Given the description of an element on the screen output the (x, y) to click on. 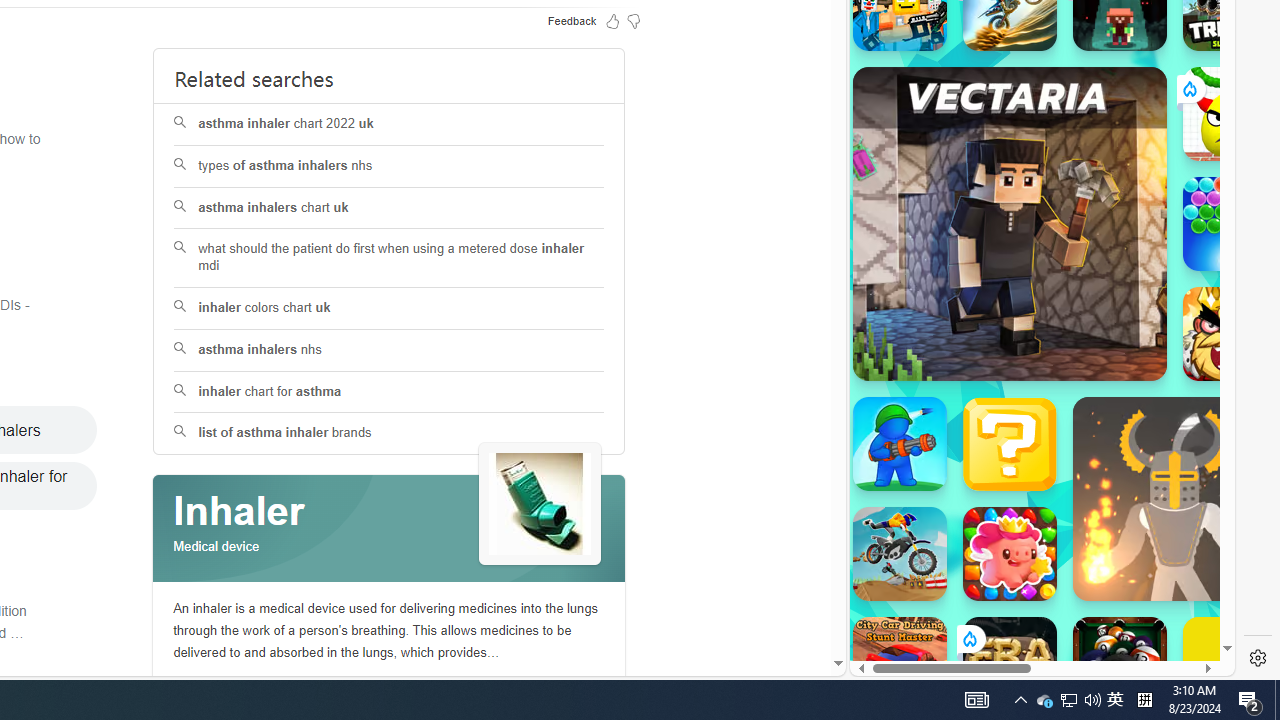
Draw To Smash: Logic Puzzle (1229, 113)
Class: spl_logobg (389, 529)
Vectaria.io (1009, 223)
8 Ball Pool With Buddies 8 Ball Pool With Buddies (1119, 664)
types of asthma inhalers nhs (389, 165)
Vectaria.io Vectaria.io (1009, 223)
See more images of Inhaler (539, 503)
Draw To Smash: Logic Puzzle Draw To Smash: Logic Puzzle (1229, 113)
Global web icon (888, 607)
See more images of Inhaler (539, 505)
Feedback Dislike (633, 20)
asthma inhaler chart 2022 uk (389, 124)
Bubble Shooter (1229, 223)
Class: rCs5cyEiqiTpYvt_VBCR (968, 638)
